Given the description of an element on the screen output the (x, y) to click on. 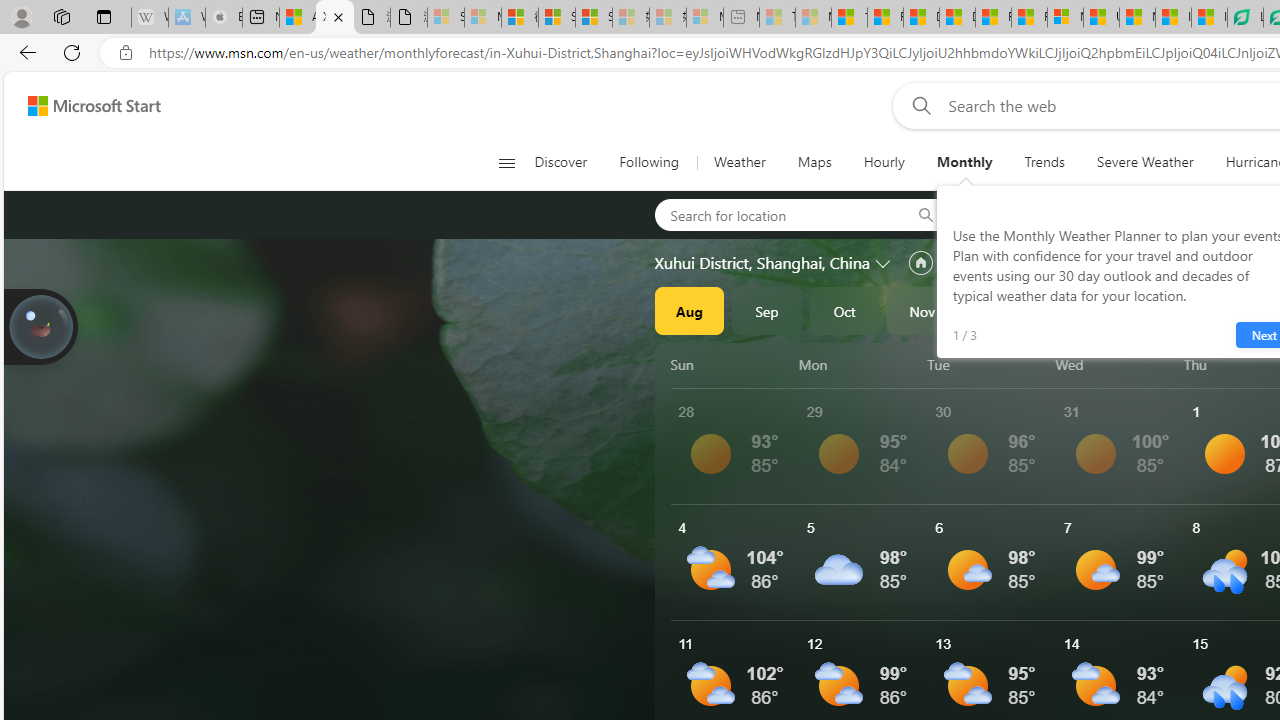
Sign in to your Microsoft account - Sleeping (445, 17)
See More Details (1120, 561)
Aug (689, 310)
Remove location (1149, 214)
Dec (1000, 310)
Sun (731, 363)
Oct (844, 310)
